Given the description of an element on the screen output the (x, y) to click on. 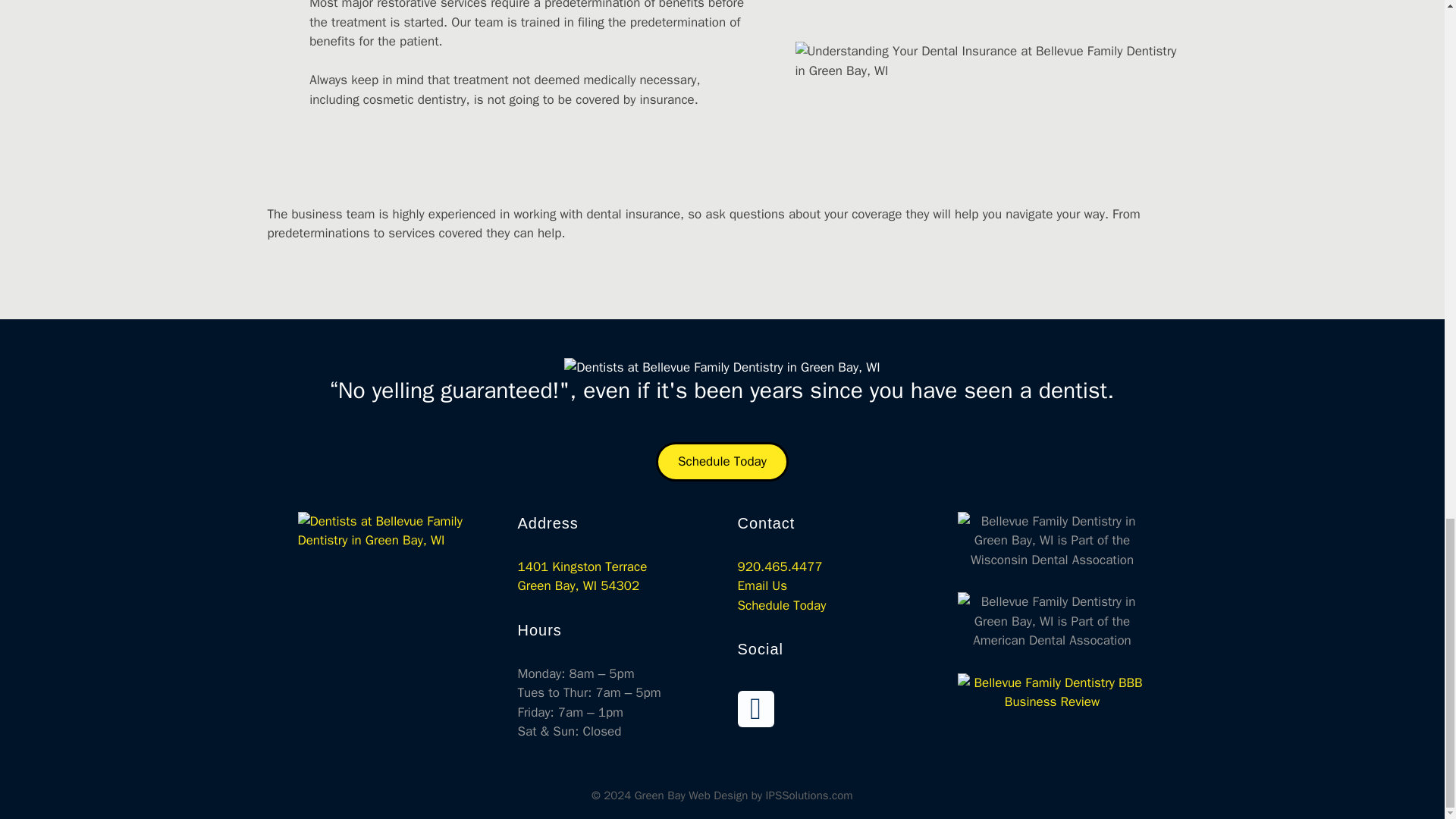
Facebook (754, 709)
Schedule Today (722, 461)
Email Us (761, 585)
920.465.4477 (581, 576)
Scroll back to top (779, 566)
Schedule Today (1406, 102)
